Given the description of an element on the screen output the (x, y) to click on. 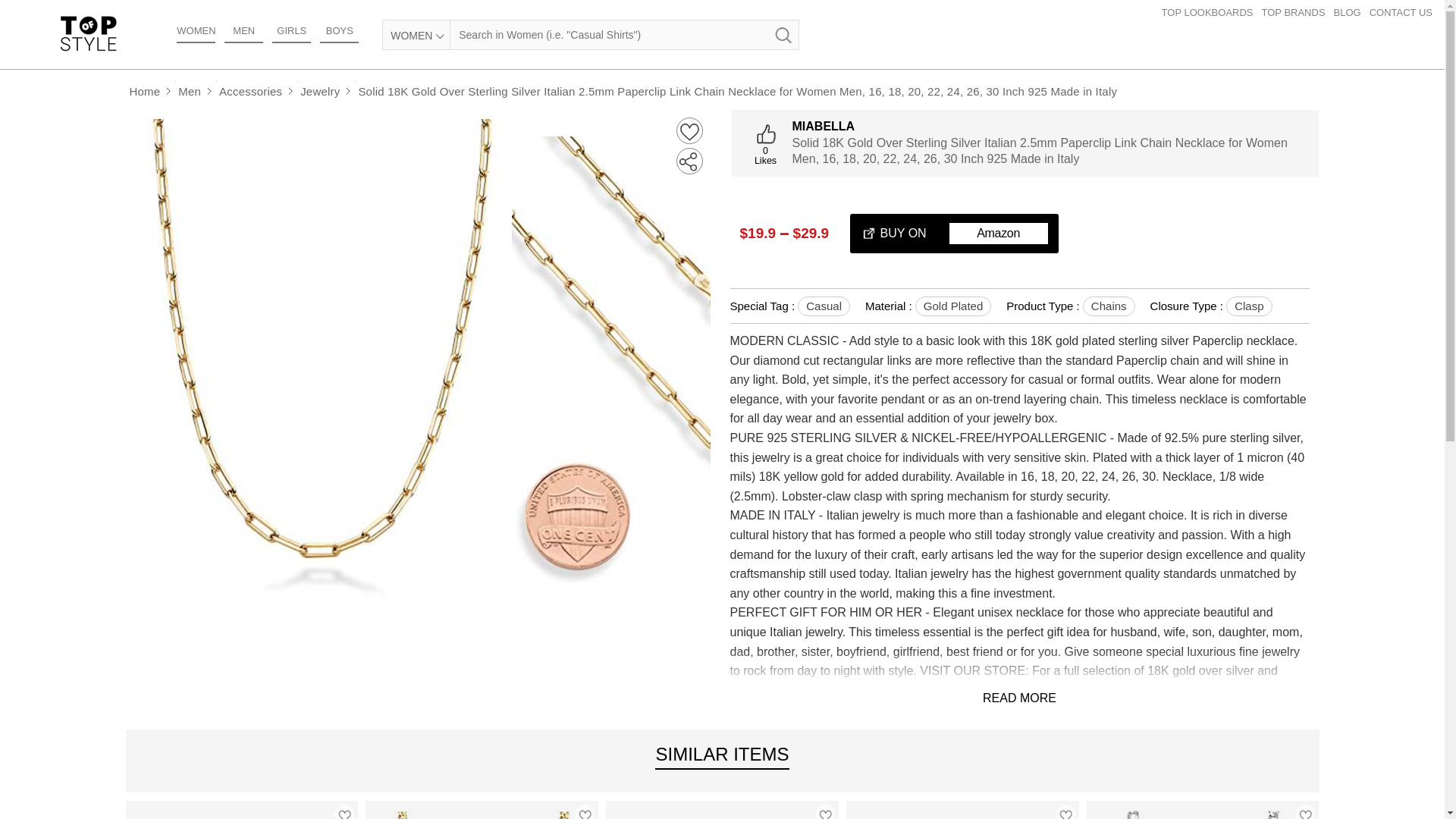
Accessories (249, 91)
Clasp (1248, 306)
BLOG (1351, 12)
Chains (1109, 306)
Jewelry (320, 91)
Men (189, 91)
MIABELLA (1053, 126)
Gold Plated (953, 306)
TOP LOOKBOARDS (1211, 12)
Home (145, 91)
Casual (823, 306)
Top Of Style (87, 32)
TOP BRANDS (1297, 12)
